Given the description of an element on the screen output the (x, y) to click on. 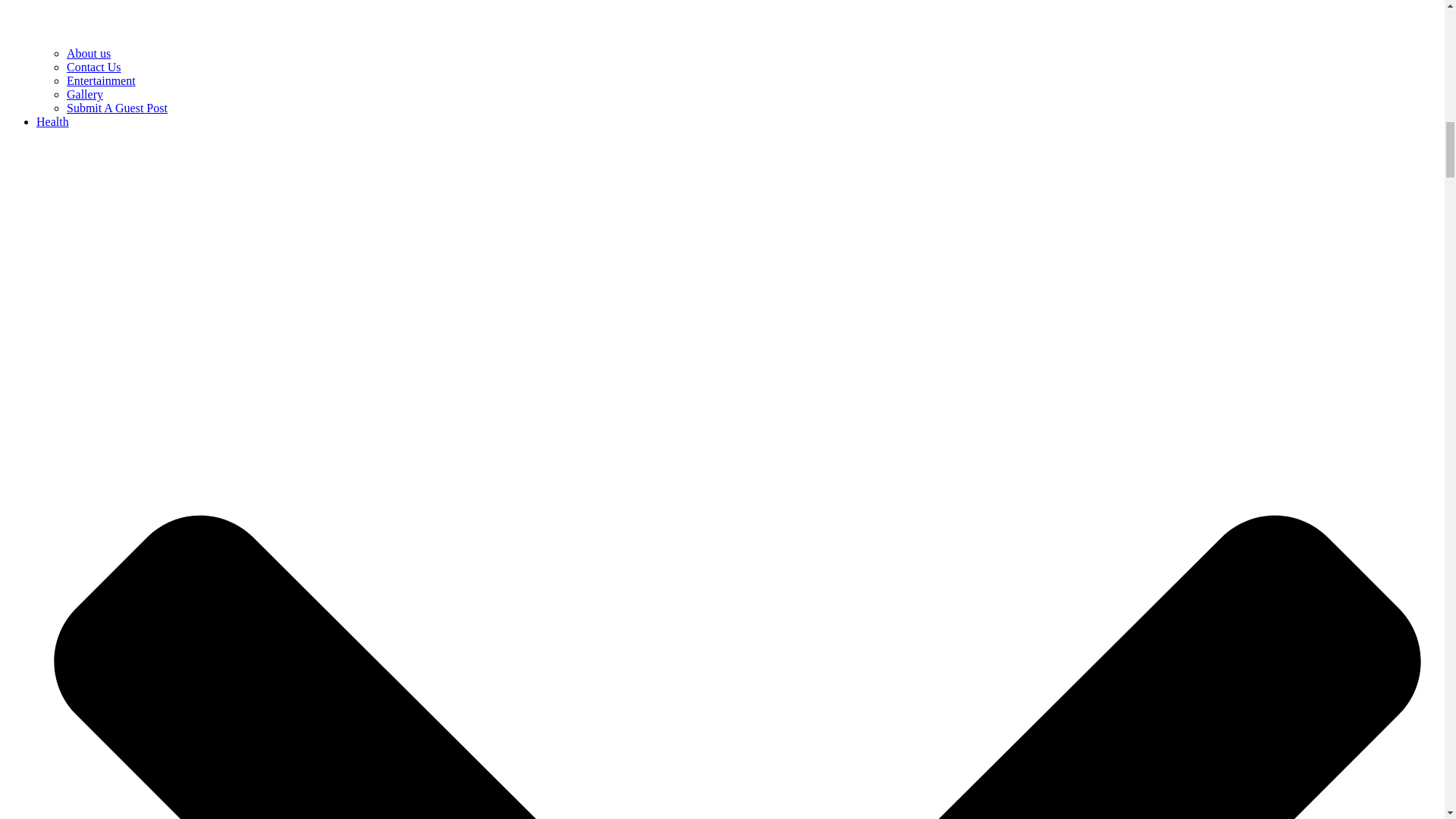
Contact Us (93, 66)
Entertainment (100, 80)
Gallery (84, 93)
Entertainment (100, 80)
Submit A Guest Post (116, 107)
About us (88, 52)
Contact Us (93, 66)
About us (88, 52)
Gallery (84, 93)
Submit A Guest Post (116, 107)
